Given the description of an element on the screen output the (x, y) to click on. 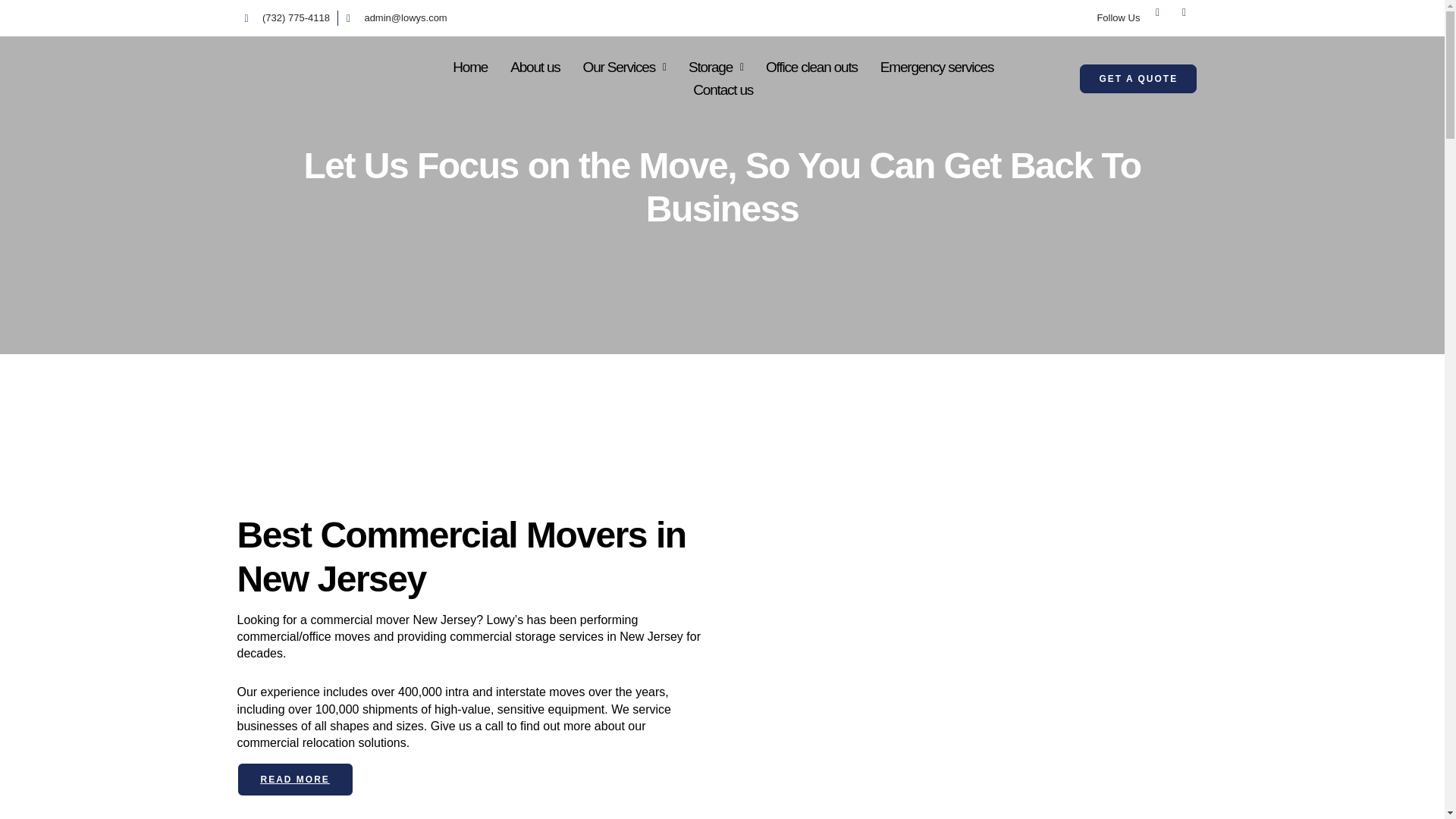
READ MORE (293, 779)
Home (470, 67)
Emergency services (936, 67)
GET A QUOTE (1138, 78)
About us (534, 67)
Storage (715, 67)
Contact us (722, 90)
Office clean outs (811, 67)
Our Services (624, 67)
